Given the description of an element on the screen output the (x, y) to click on. 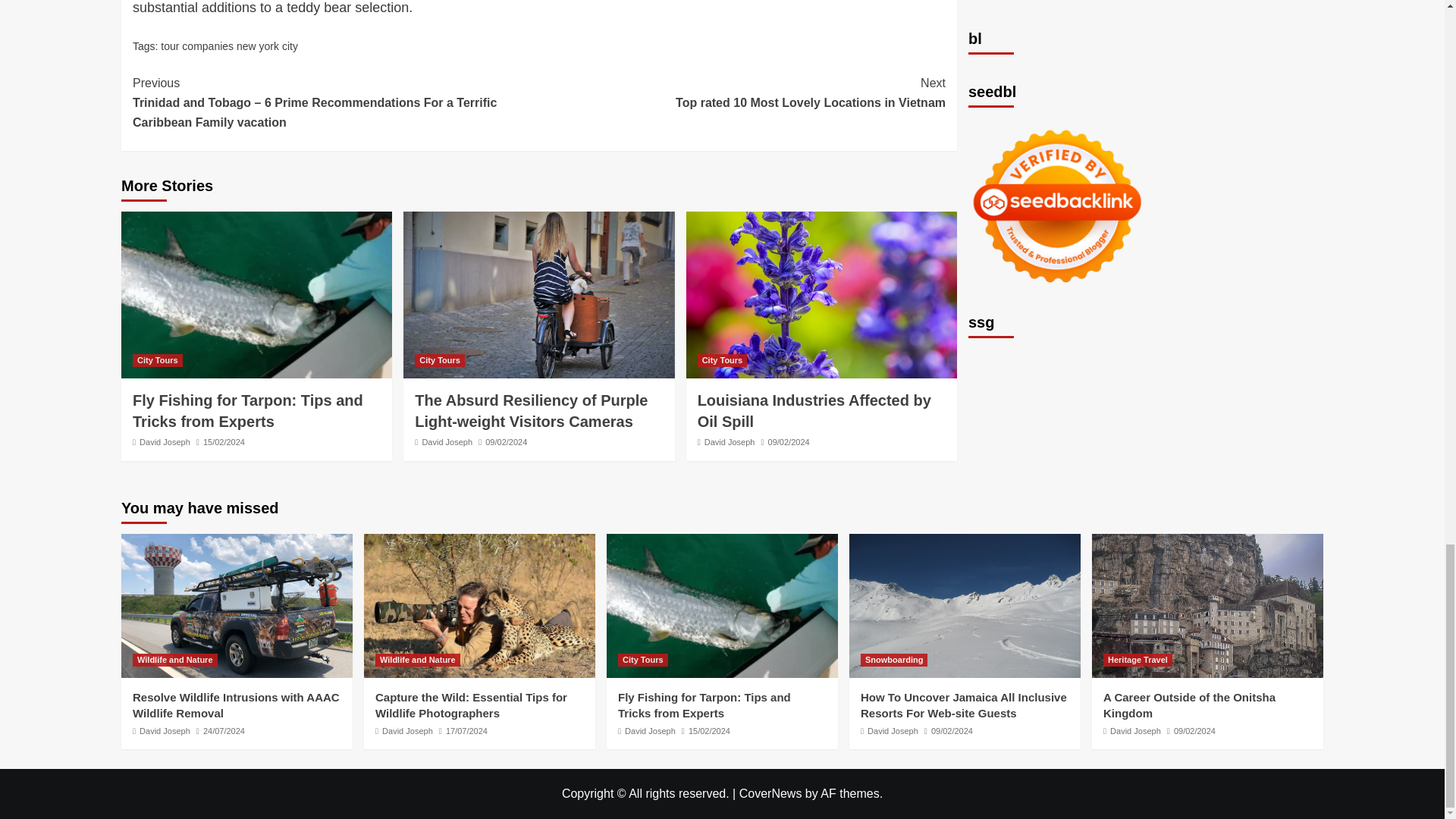
A Career Outside of the Onitsha Kingdom (1207, 605)
Capture the Wild: Essential Tips for Wildlife Photographers (479, 605)
Resolve Wildlife Intrusions with AAAC Wildlife Removal (236, 605)
David Joseph (729, 441)
City Tours (439, 359)
David Joseph (164, 441)
Fly Fishing for Tarpon: Tips and Tricks from Experts (247, 410)
City Tours (722, 359)
Louisiana Industries Affected by Oil Spill (820, 294)
City Tours (157, 359)
Louisiana Industries Affected by Oil Spill (814, 410)
Fly Fishing for Tarpon: Tips and Tricks from Experts (722, 605)
tour companies new york city (229, 46)
